Given the description of an element on the screen output the (x, y) to click on. 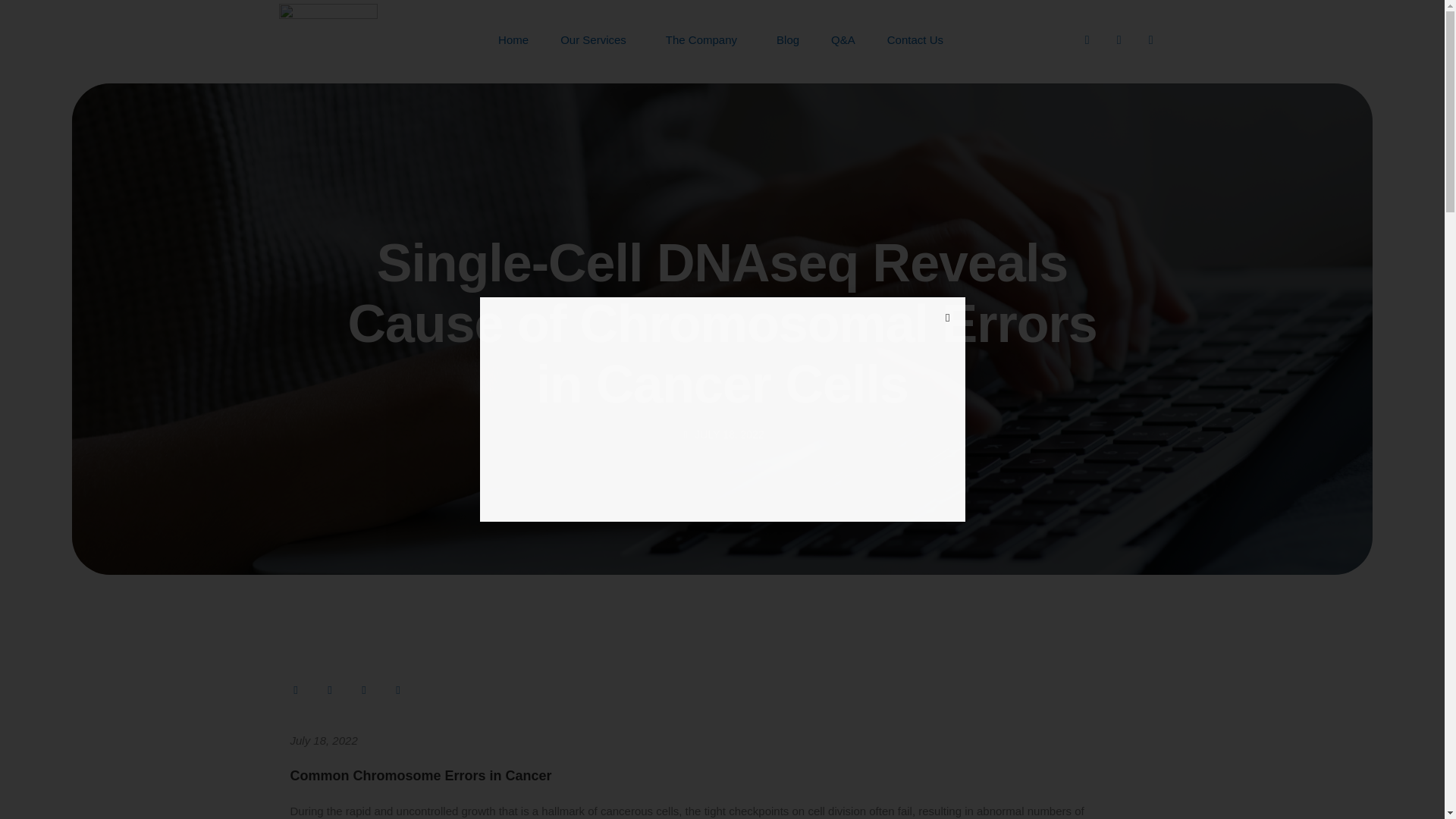
Our Services (597, 39)
Contact Us (915, 39)
The Company (705, 39)
Web Forms (721, 407)
